Given the description of an element on the screen output the (x, y) to click on. 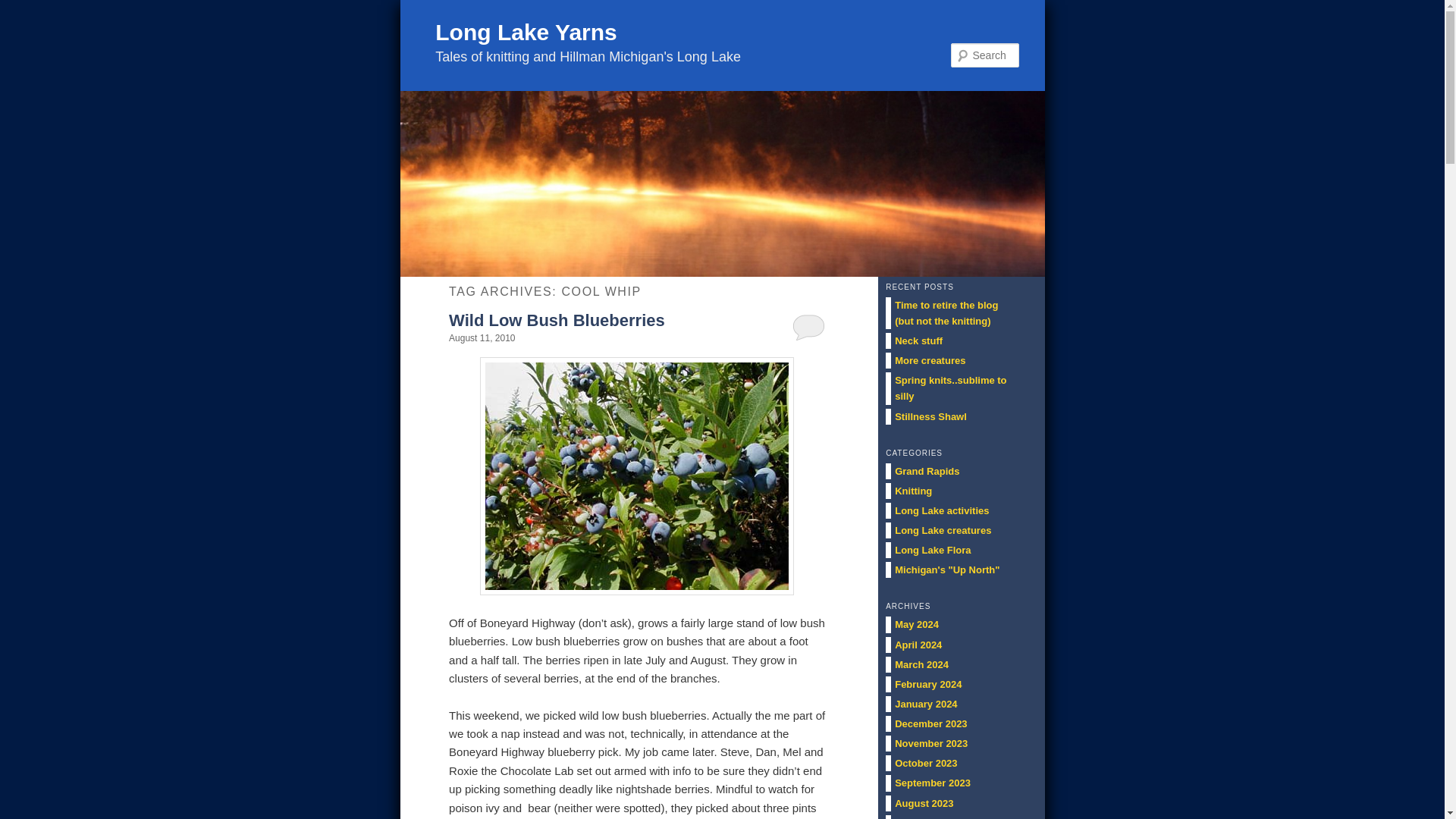
May 2024 (917, 624)
December 2023 (930, 723)
August 2023 (924, 803)
October 2023 (925, 763)
albfrt02 (636, 476)
Long Lake creatures (943, 530)
Long Lake activities (941, 510)
Long Lake Yarns (526, 32)
Stillness Shawl (930, 416)
March 2024 (922, 664)
More creatures (930, 360)
Long Lake Flora (933, 550)
November 2023 (931, 743)
Neck stuff (918, 340)
Knitting (913, 490)
